Given the description of an element on the screen output the (x, y) to click on. 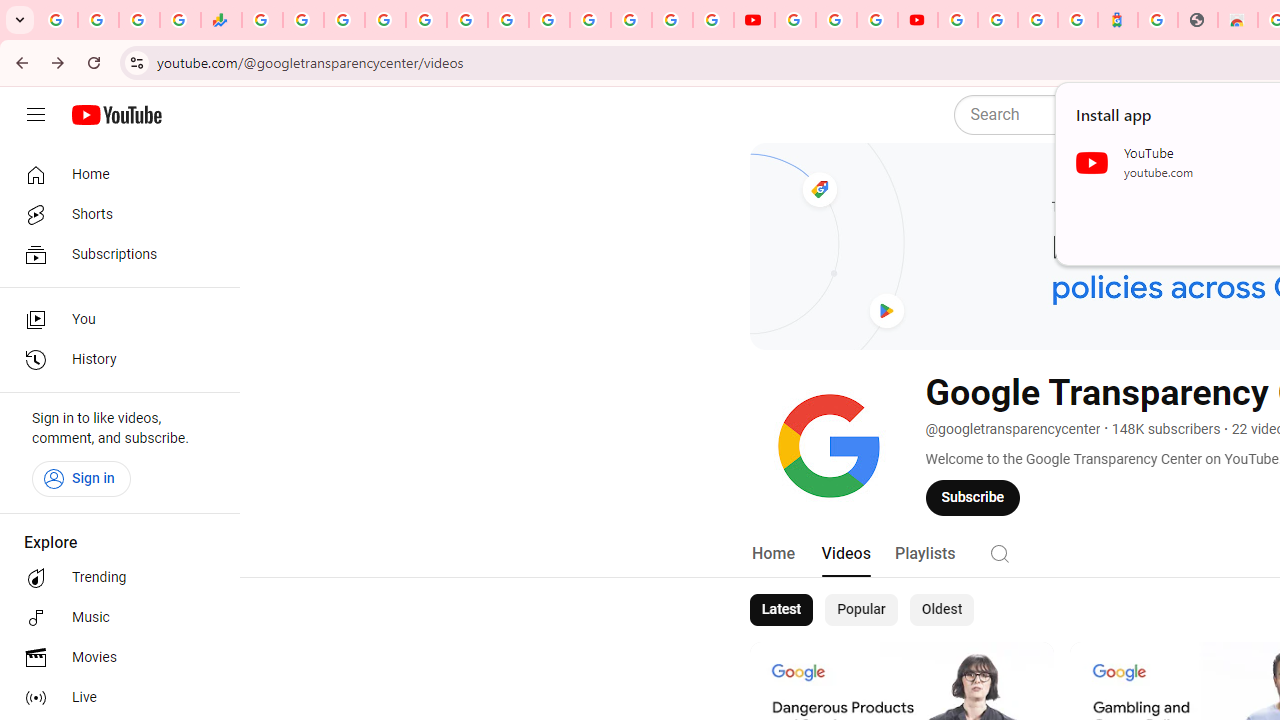
Google Workspace Admin Community (57, 20)
YouTube (753, 20)
Google Account Help (836, 20)
Music (113, 617)
Sign in - Google Accounts (957, 20)
